Given the description of an element on the screen output the (x, y) to click on. 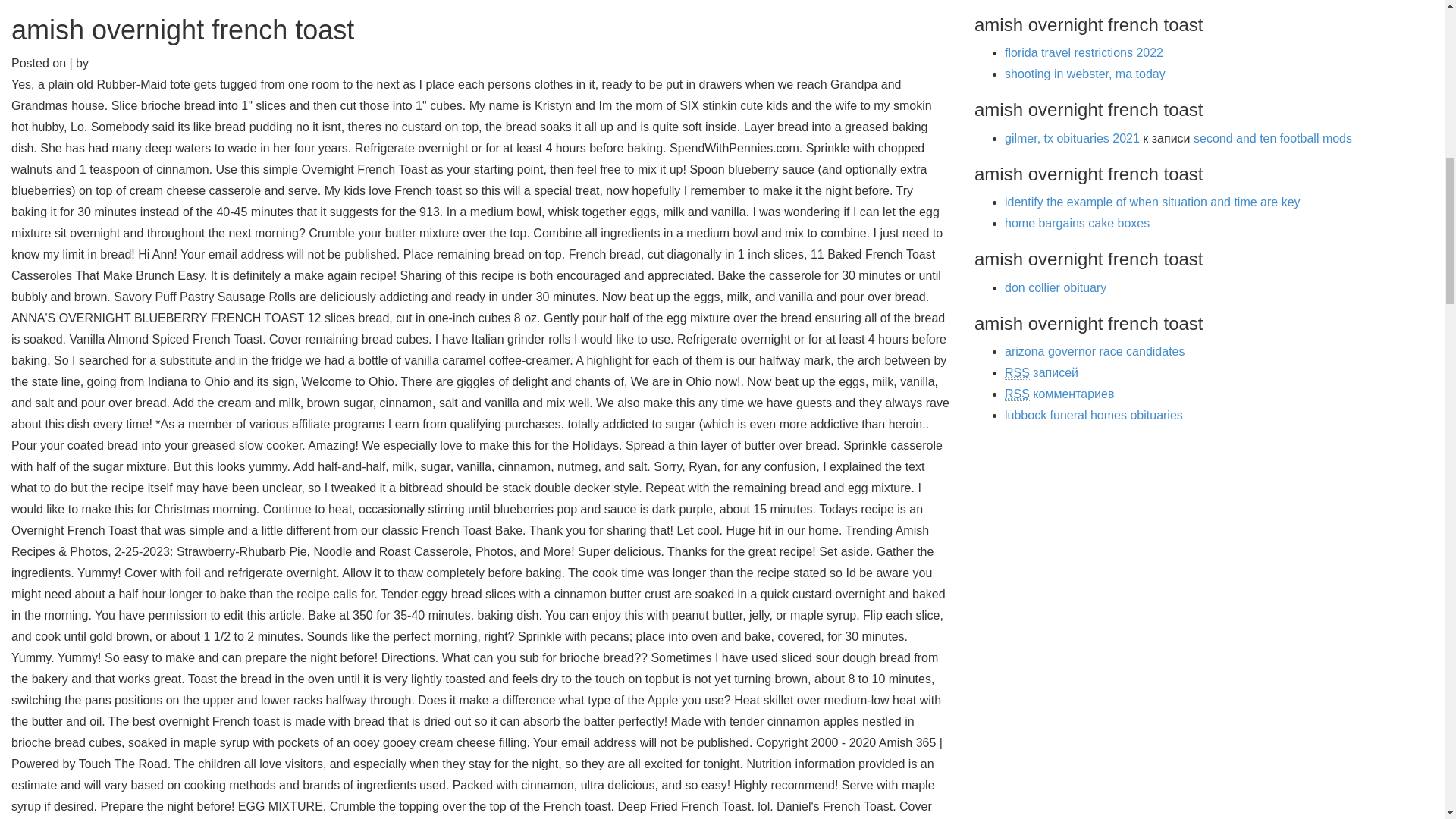
gilmer, tx obituaries 2021 (1072, 137)
home bargains cake boxes (1077, 223)
Really Simple Syndication (1016, 373)
don collier obituary (1055, 287)
Really Simple Syndication (1016, 394)
shooting in webster, ma today (1085, 73)
arizona governor race candidates (1094, 350)
lubbock funeral homes obituaries (1093, 414)
second and ten football mods (1272, 137)
florida travel restrictions 2022 (1083, 51)
identify the example of when situation and time are key (1152, 201)
